Given the description of an element on the screen output the (x, y) to click on. 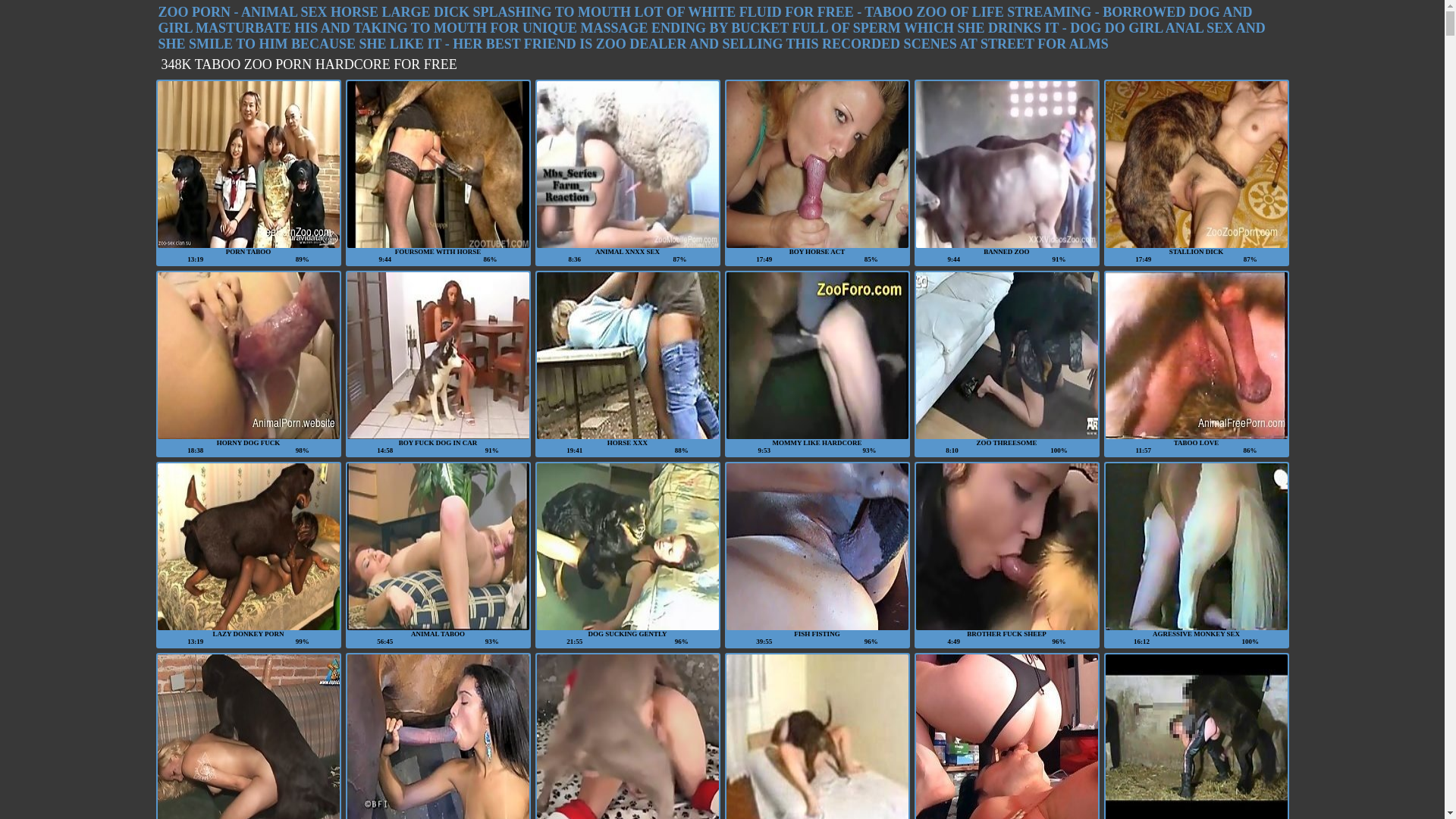
ZOO PORN Element type: text (193, 11)
